Given the description of an element on the screen output the (x, y) to click on. 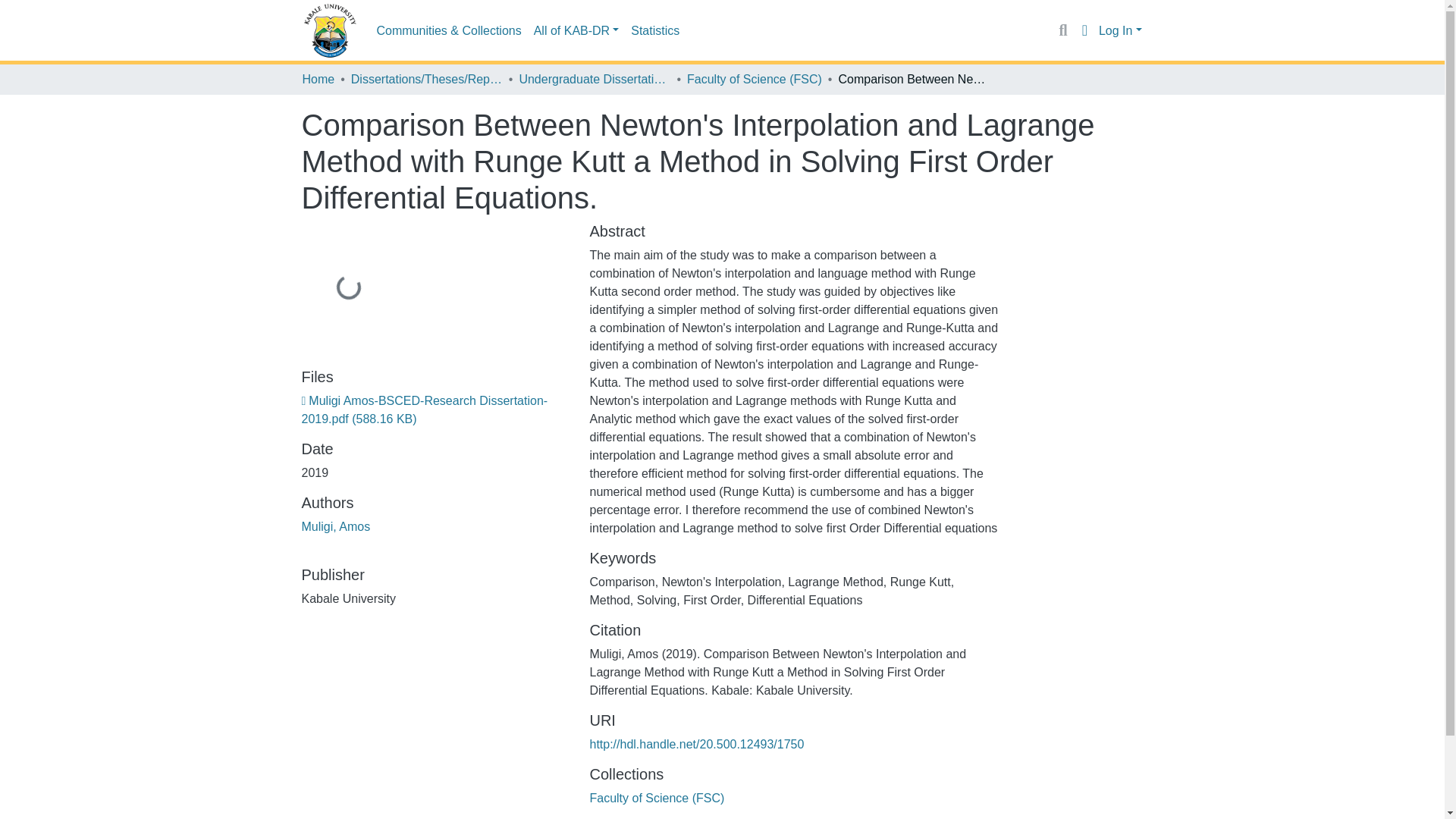
Log In (1119, 30)
Home (317, 79)
Muligi, Amos (336, 526)
Statistics (654, 30)
Statistics (654, 30)
Search (1061, 30)
Language switch (1084, 30)
All of KAB-DR (576, 30)
Undergraduate Dissertations (593, 79)
